Given the description of an element on the screen output the (x, y) to click on. 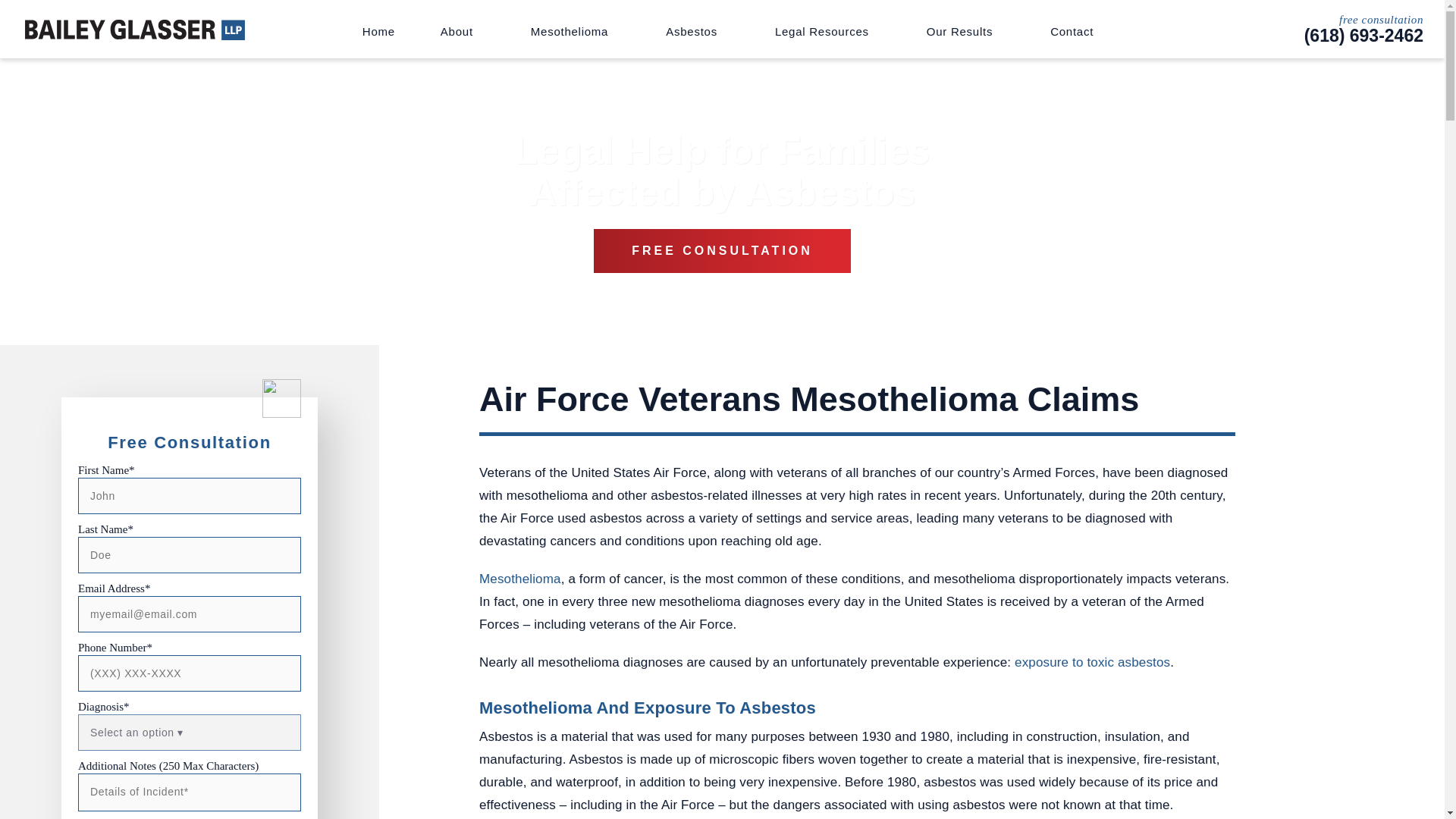
Asbestos (697, 31)
Contact (1071, 31)
FREE CONSULTATION (722, 250)
Mesothelioma (519, 578)
Legal Resources (827, 31)
Our Results (965, 31)
About (462, 31)
exposure to toxic asbestos (1092, 662)
Home (378, 31)
Mesothelioma (575, 31)
